Given the description of an element on the screen output the (x, y) to click on. 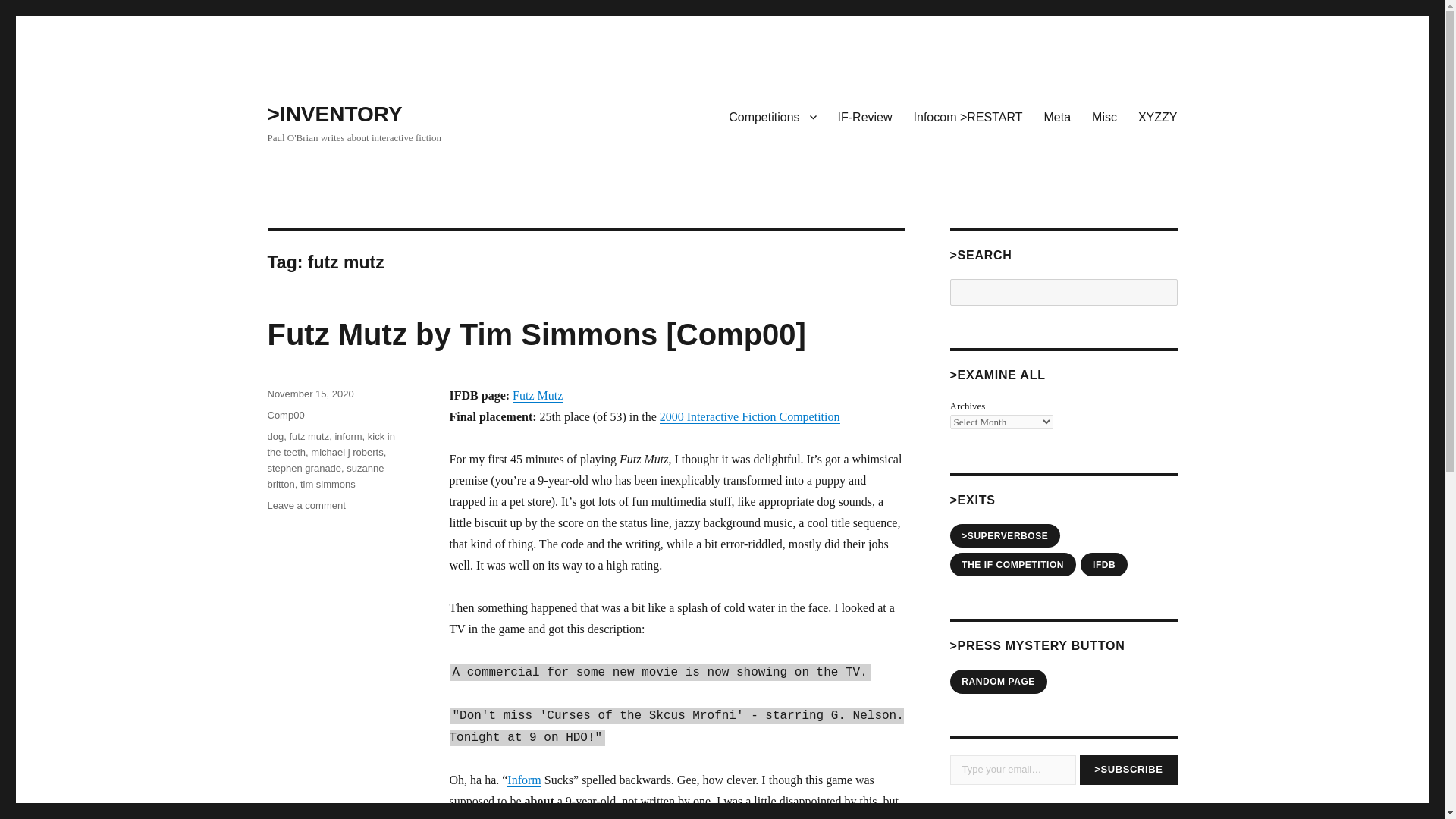
suzanne britton (325, 475)
XYZZY (1157, 116)
November 15, 2020 (309, 393)
dog (274, 436)
michael j roberts (346, 451)
Meta (1056, 116)
Futz Mutz (537, 395)
inform (347, 436)
2000 Interactive Fiction Competition (749, 416)
Please fill in this field. (1012, 769)
